Given the description of an element on the screen output the (x, y) to click on. 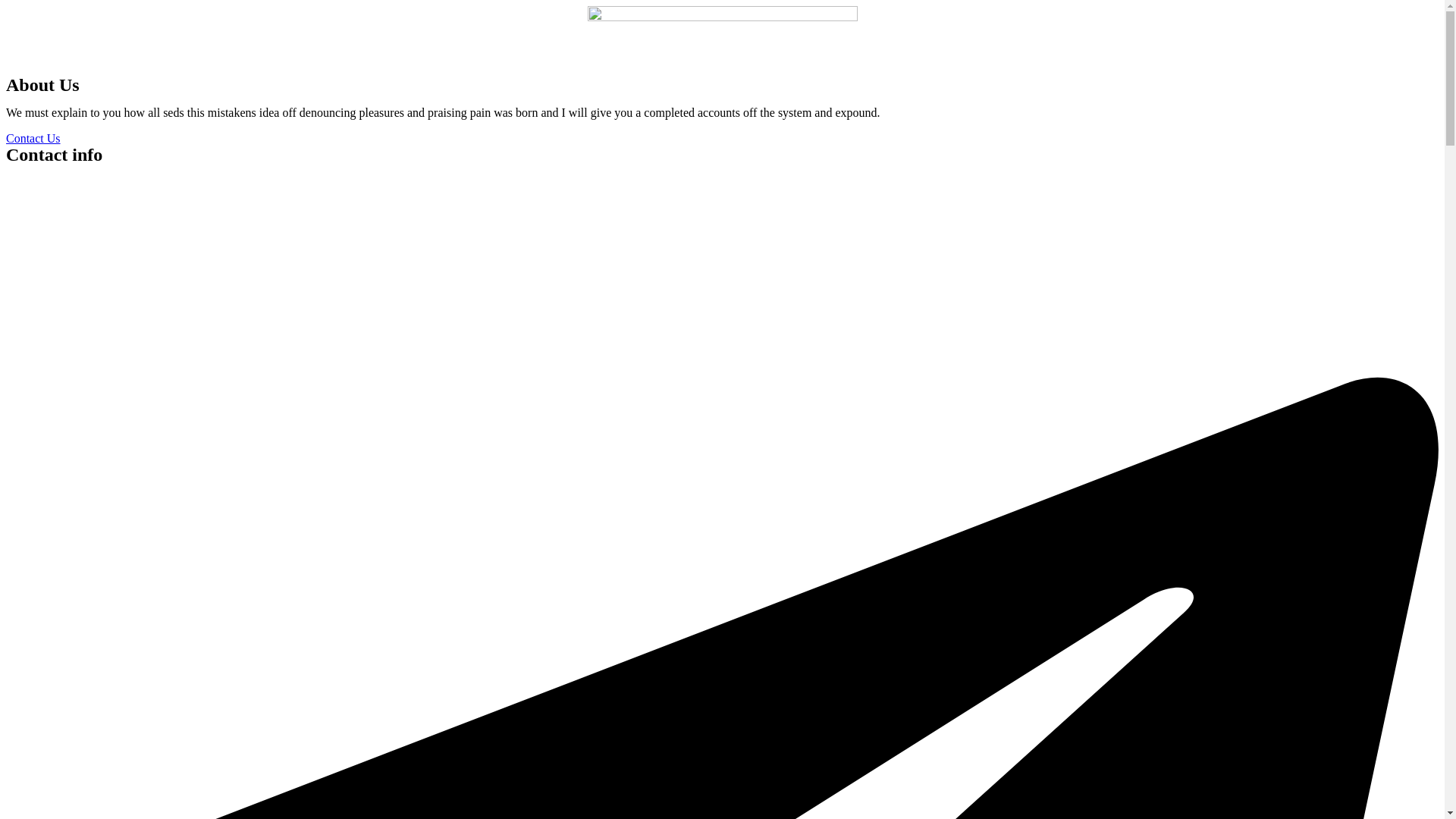
Contact Us Element type: text (33, 137)
